Given the description of an element on the screen output the (x, y) to click on. 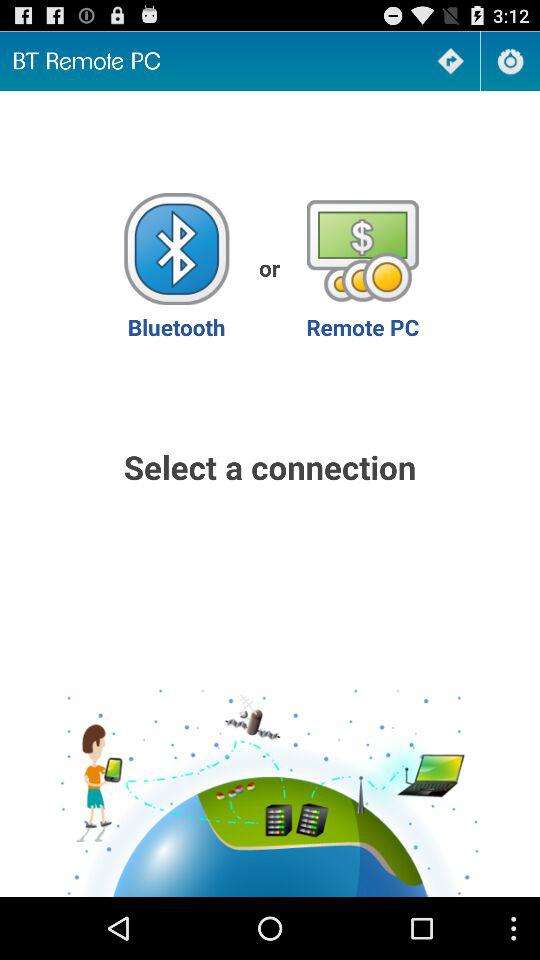
launch bluetooth item (176, 267)
